Given the description of an element on the screen output the (x, y) to click on. 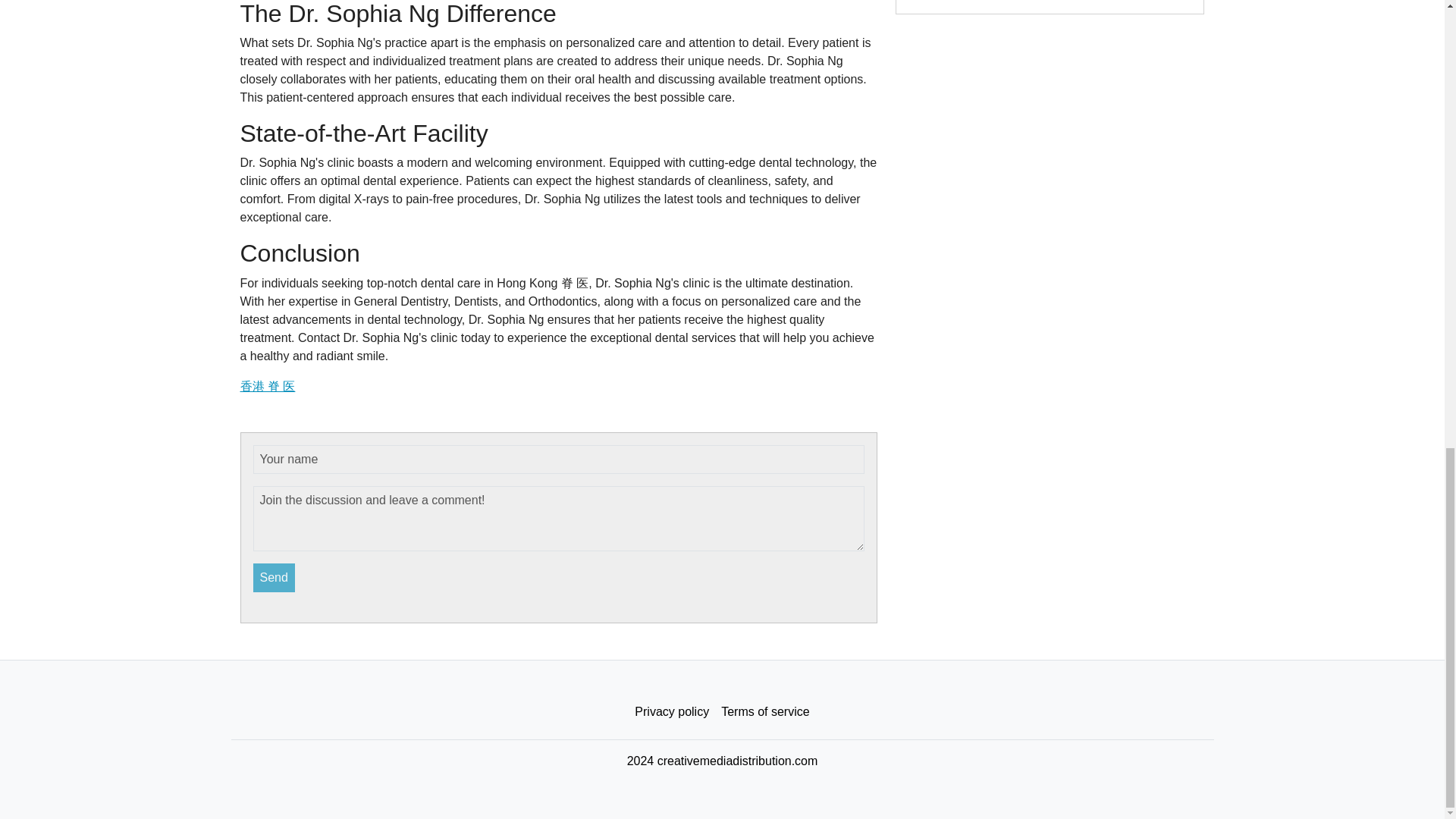
Privacy policy (671, 711)
Terms of service (764, 711)
Send (274, 577)
Send (274, 577)
